Given the description of an element on the screen output the (x, y) to click on. 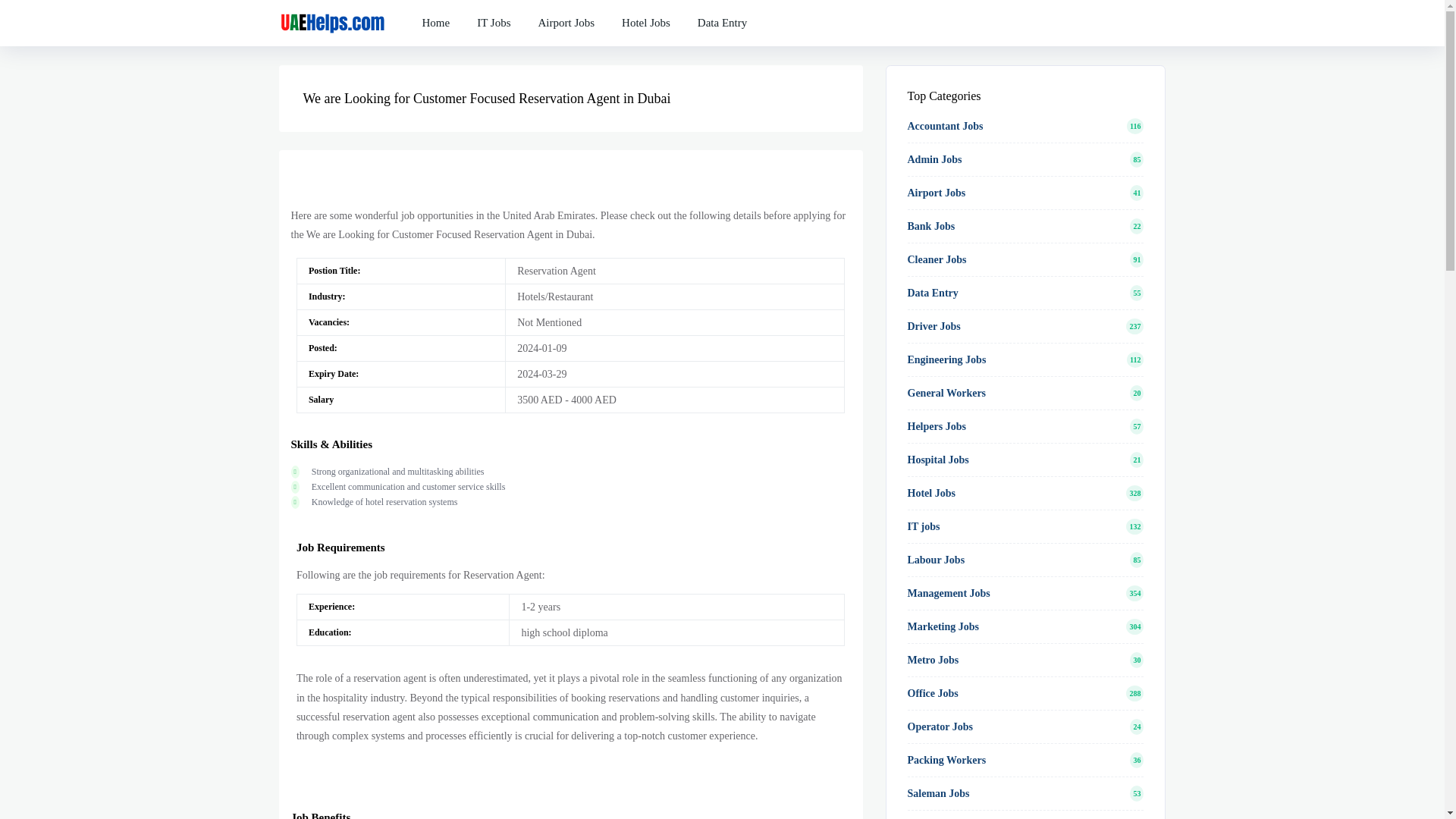
Declaimer (566, 22)
IT Jobs (493, 10)
Home (435, 6)
Hotel Jobs (646, 14)
Term and Conditions (646, 22)
Data Entry (722, 16)
Airport Jobs (566, 13)
